Given the description of an element on the screen output the (x, y) to click on. 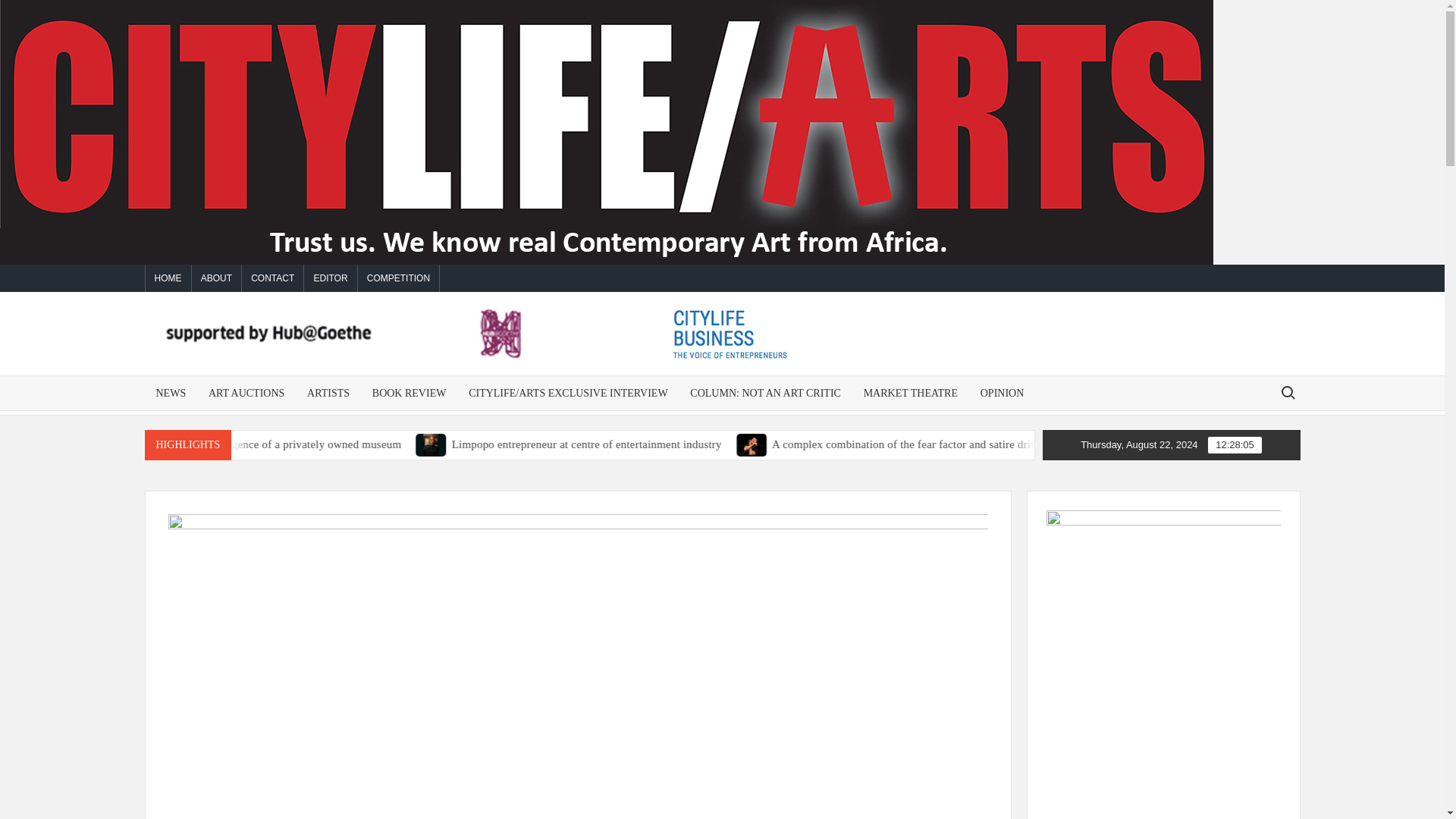
Limpopo entrepreneur at centre of entertainment industry (582, 443)
OPINION (1002, 392)
COMPETITION (398, 277)
Limpopo entrepreneur at centre of entertainment industry (748, 444)
CITYLIFE ARTS (933, 371)
ABOUT (216, 277)
CONTACT (271, 277)
ART AUCTIONS (245, 392)
HOME (167, 277)
EDITOR (330, 277)
